Given the description of an element on the screen output the (x, y) to click on. 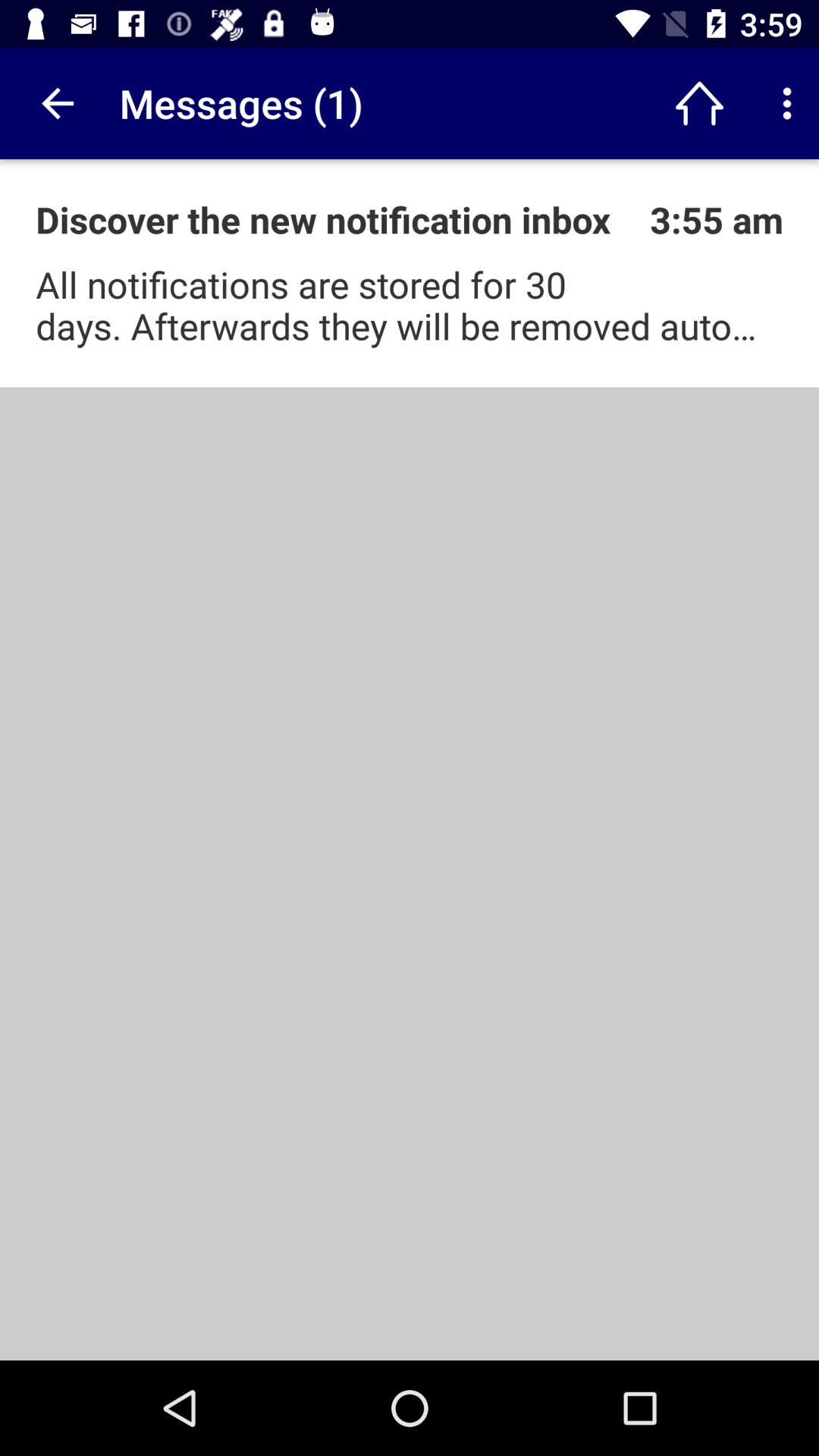
tap the app next to messages (1) icon (699, 103)
